Given the description of an element on the screen output the (x, y) to click on. 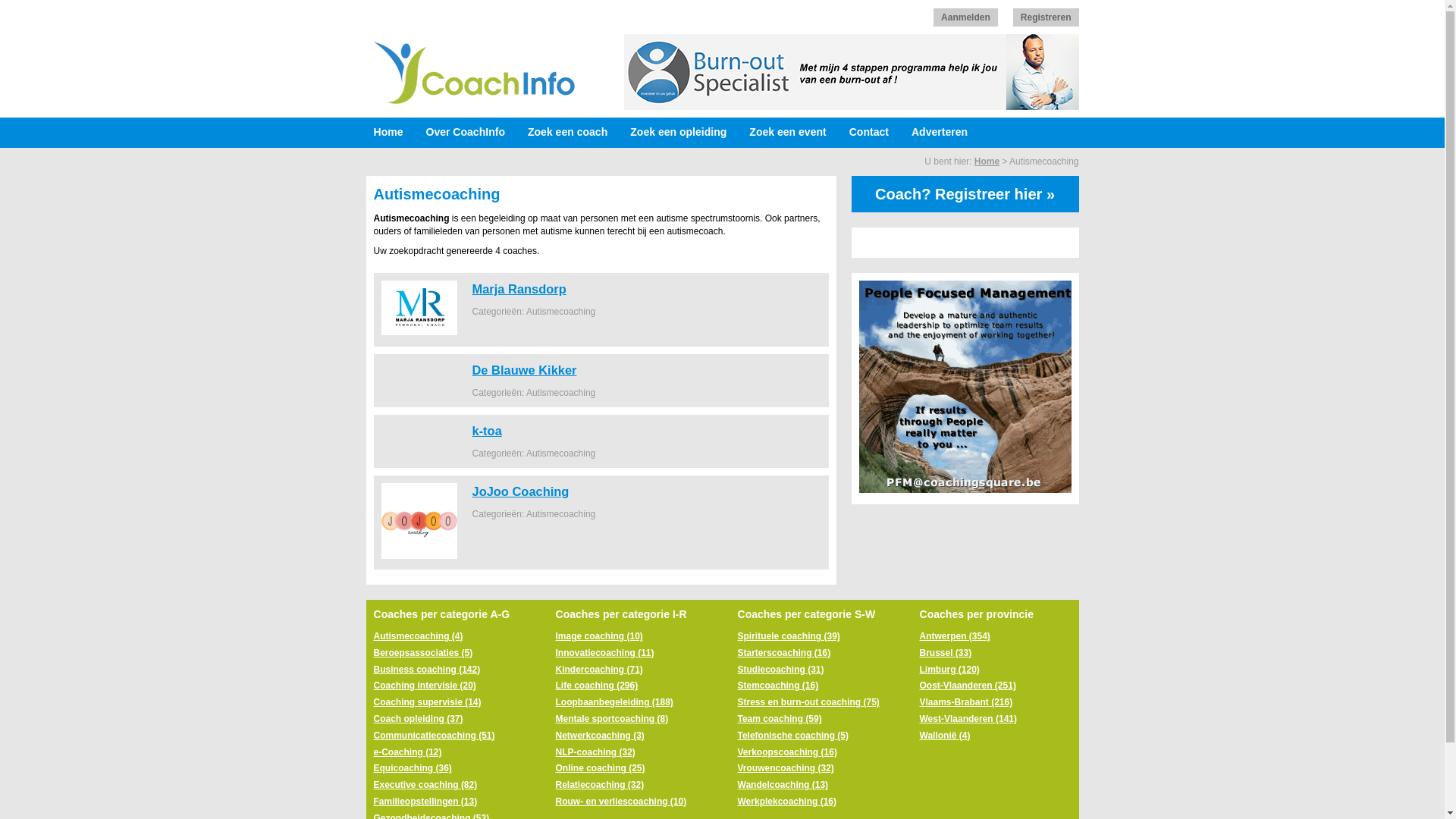
Oost-Vlaanderen (251) Element type: text (967, 685)
Verkoopscoaching (16) Element type: text (786, 751)
Innovatiecoaching (11) Element type: text (604, 652)
Relatiecoaching (32) Element type: text (599, 784)
k-toa Element type: text (486, 430)
De Blauwe Kikker Element type: text (523, 369)
Contact Element type: text (872, 132)
Starterscoaching (16) Element type: text (783, 652)
Equicoaching (36) Element type: text (412, 767)
Zoek een event Element type: text (790, 132)
Antwerpen (354) Element type: text (954, 635)
Spirituele coaching (39) Element type: text (788, 635)
Image coaching (10) Element type: text (598, 635)
Coaching supervisie (14) Element type: text (426, 701)
Executive coaching (82) Element type: text (424, 784)
JoJoo Coaching Element type: text (519, 490)
Familieopstellingen (13) Element type: text (424, 801)
Netwerkcoaching (3) Element type: text (599, 735)
Marja Ransdorp Element type: text (518, 288)
Mentale sportcoaching (8) Element type: text (611, 718)
Rouw- en verliescoaching (10) Element type: text (620, 801)
Zoek een coach Element type: text (571, 132)
West-Vlaanderen (141) Element type: text (967, 718)
Limburg (120) Element type: text (949, 669)
Vlaams-Brabant (216) Element type: text (965, 701)
Communicatiecoaching (51) Element type: text (433, 735)
Beroepsassociaties (5) Element type: text (422, 652)
Adverteren Element type: text (942, 132)
Vrouwencoaching (32) Element type: text (785, 767)
Kindercoaching (71) Element type: text (598, 669)
Aanmelden Element type: text (965, 17)
NLP-coaching (32) Element type: text (594, 751)
Coach opleiding (37) Element type: text (417, 718)
Werkplekcoaching (16) Element type: text (786, 801)
Stemcoaching (16) Element type: text (777, 685)
Home Element type: text (986, 161)
Studiecoaching (31) Element type: text (780, 669)
Zoek een opleiding Element type: text (681, 132)
Registreren Element type: text (1046, 17)
Loopbaanbegeleiding (188) Element type: text (613, 701)
Brussel (33) Element type: text (945, 652)
e-Coaching (12) Element type: text (407, 751)
Business coaching (142) Element type: text (426, 669)
Life coaching (296) Element type: text (596, 685)
Online coaching (25) Element type: text (599, 767)
Wandelcoaching (13) Element type: text (782, 784)
Home Element type: text (391, 132)
Stress en burn-out coaching (75) Element type: text (807, 701)
Autismecoaching (4) Element type: text (417, 635)
Telefonische coaching (5) Element type: text (792, 735)
Team coaching (59) Element type: text (779, 718)
Coaching intervisie (20) Element type: text (424, 685)
Over CoachInfo Element type: text (468, 132)
